Given the description of an element on the screen output the (x, y) to click on. 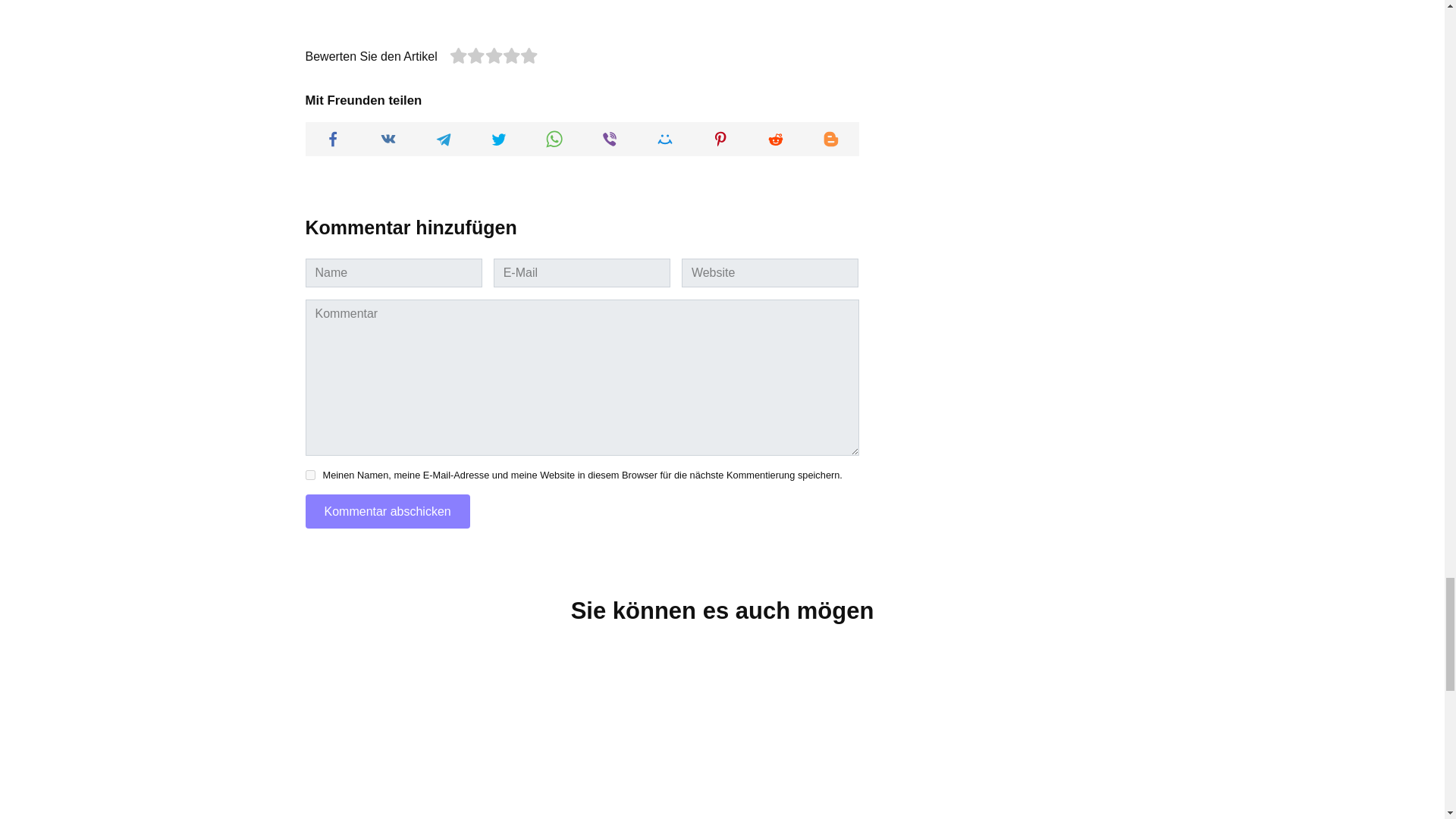
Kommentar abschicken (386, 511)
Kommentar abschicken (386, 511)
yes (309, 474)
